Given the description of an element on the screen output the (x, y) to click on. 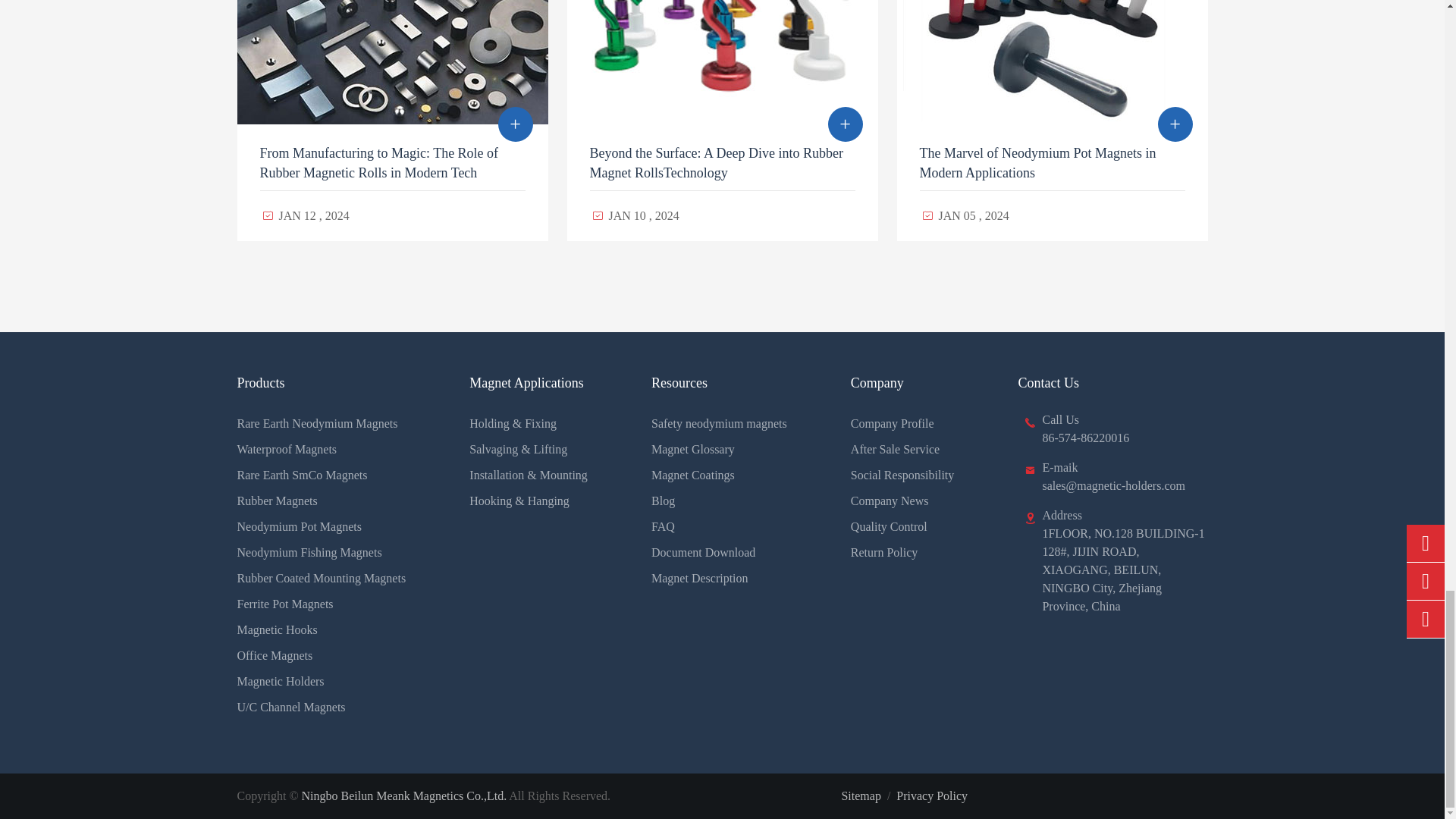
The Marvel of Neodymium Pot Magnets in Modern Applications (1051, 62)
